Given the description of an element on the screen output the (x, y) to click on. 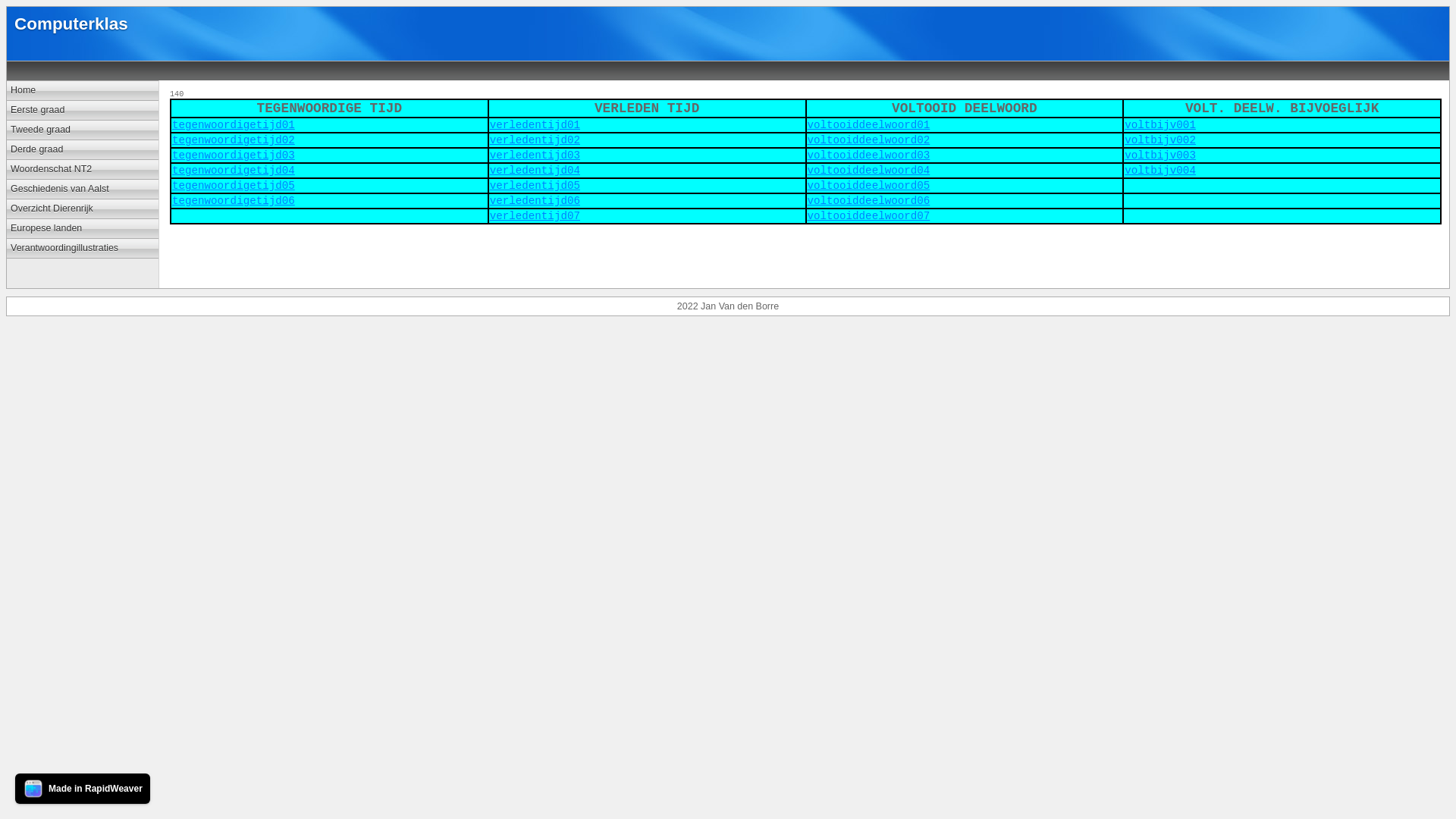
Verantwoordingillustraties Element type: text (82, 248)
verledentijd06 Element type: text (534, 200)
verledentijd01 Element type: text (534, 125)
voltbijv002 Element type: text (1159, 140)
verledentijd07 Element type: text (534, 216)
tegenwoordigetijd01 Element type: text (233, 125)
voltbijv001 Element type: text (1159, 125)
Europese landen Element type: text (82, 228)
voltbijv004 Element type: text (1159, 170)
tegenwoordigetijd02 Element type: text (233, 140)
Eerste graad Element type: text (82, 110)
Overzicht Dierenrijk Element type: text (82, 209)
voltooiddeelwoord05 Element type: text (867, 185)
Home Element type: text (82, 90)
voltooiddeelwoord07 Element type: text (867, 216)
tegenwoordigetijd04 Element type: text (233, 170)
voltbijv003 Element type: text (1159, 155)
tegenwoordigetijd05 Element type: text (233, 185)
verledentijd02 Element type: text (534, 140)
verledentijd05 Element type: text (534, 185)
Geschiedenis van Aalst Element type: text (82, 189)
voltooiddeelwoord03 Element type: text (867, 155)
Tweede graad Element type: text (82, 130)
voltooiddeelwoord01 Element type: text (867, 125)
Woordenschat NT2 Element type: text (82, 169)
verledentijd03 Element type: text (534, 155)
voltooiddeelwoord06 Element type: text (867, 200)
tegenwoordigetijd03 Element type: text (233, 155)
tegenwoordigetijd06 Element type: text (233, 200)
Derde graad Element type: text (82, 150)
voltooiddeelwoord04 Element type: text (867, 170)
verledentijd04 Element type: text (534, 170)
voltooiddeelwoord02 Element type: text (867, 140)
